Given the description of an element on the screen output the (x, y) to click on. 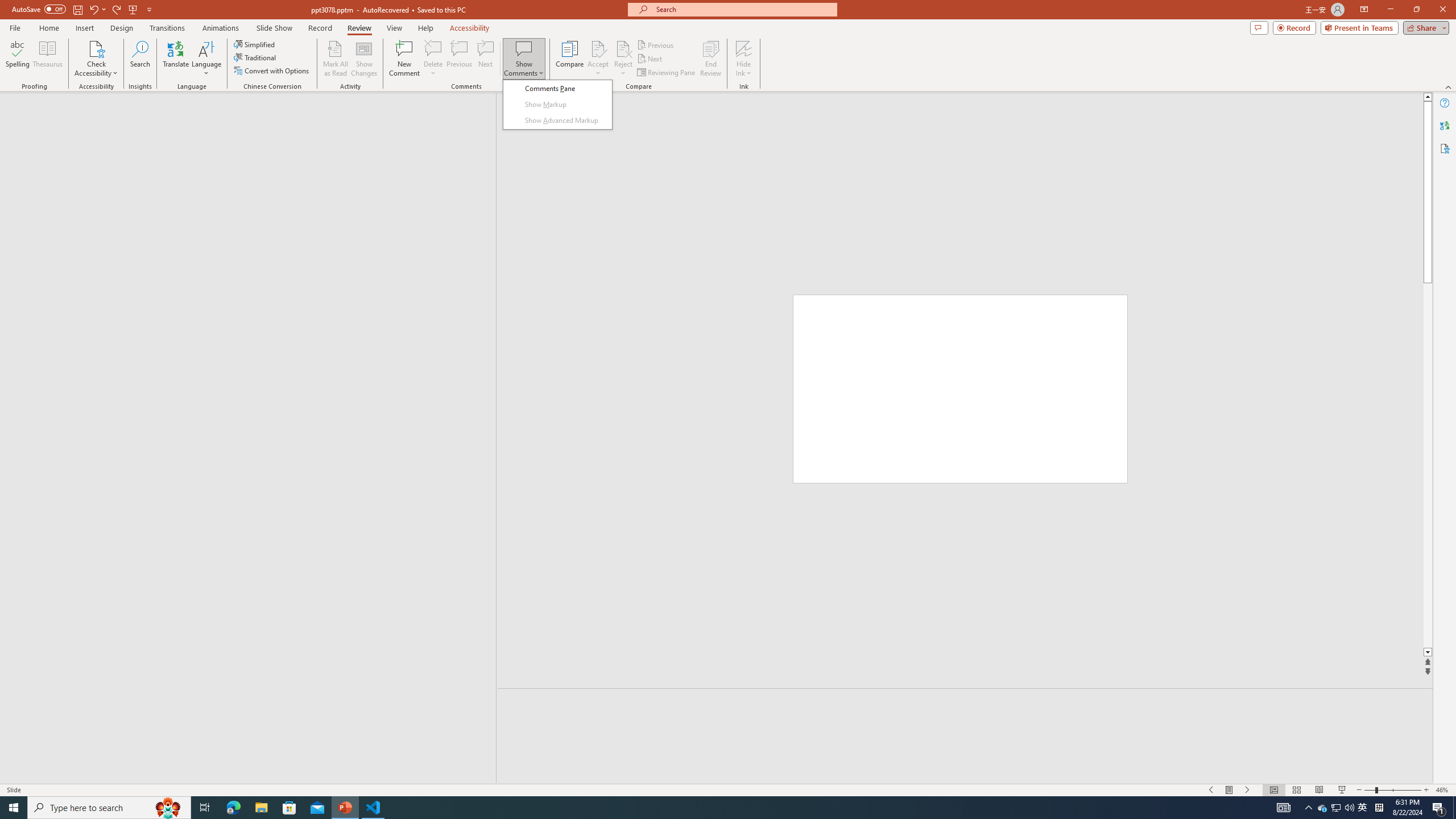
Mark All as Read (335, 58)
Next (649, 58)
